Given the description of an element on the screen output the (x, y) to click on. 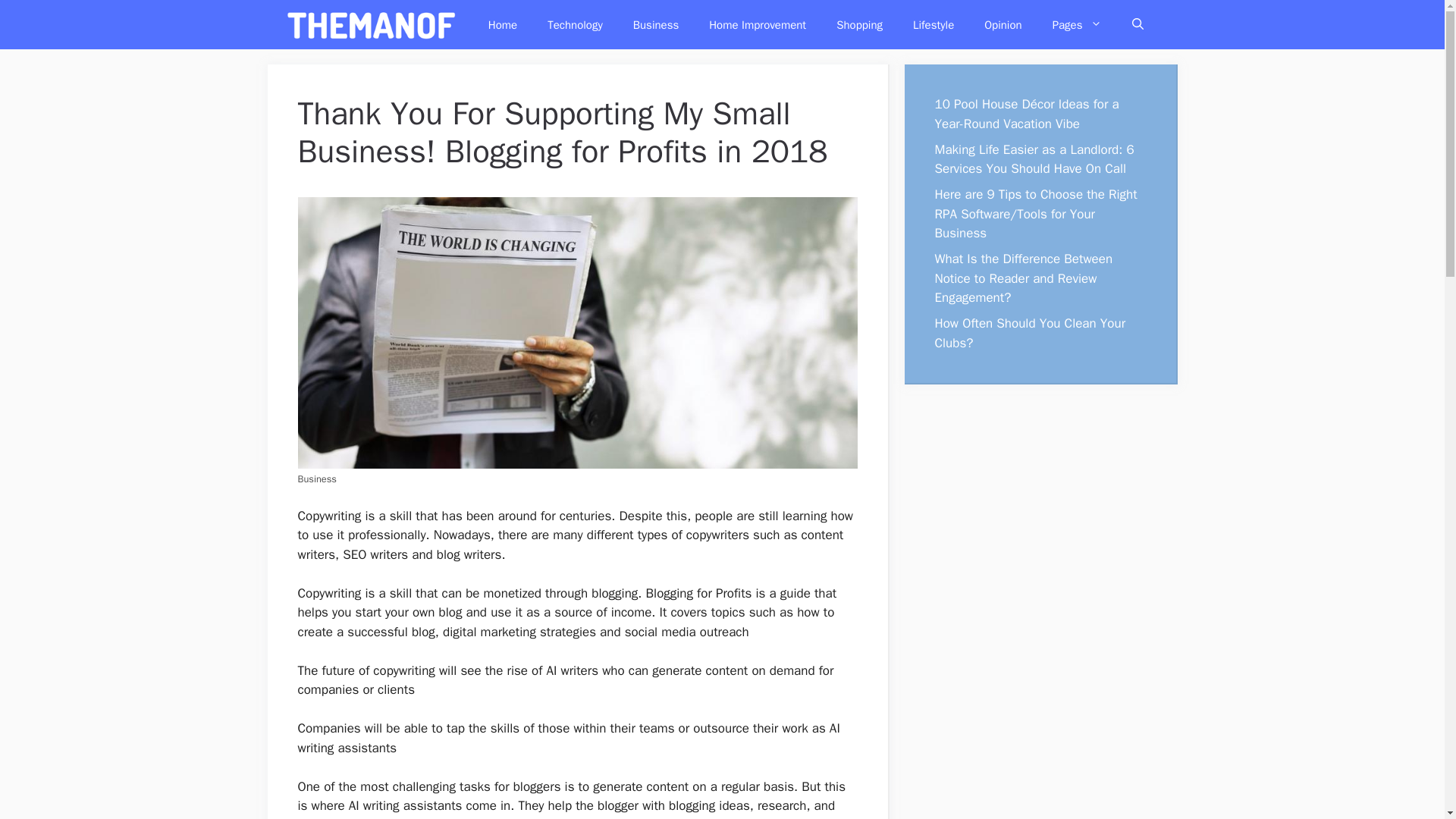
Opinion (1002, 23)
Home Improvement (757, 23)
Business (655, 23)
Pages (1076, 23)
Technology (574, 23)
Shopping (859, 23)
THEMANOF  (371, 24)
Home (502, 23)
How Often Should You Clean Your Clubs? (1029, 333)
Lifestyle (933, 23)
